Given the description of an element on the screen output the (x, y) to click on. 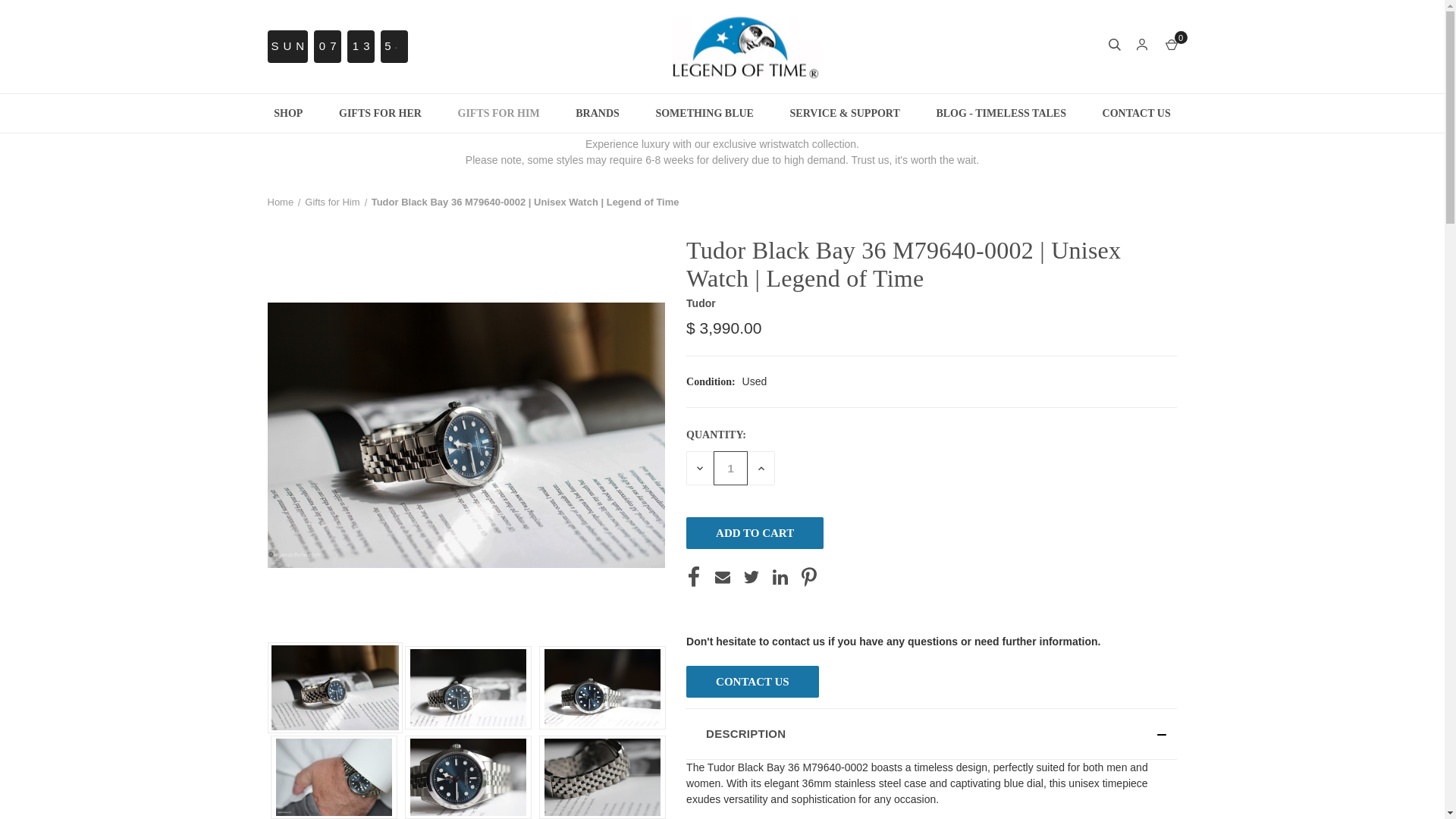
SHOP (288, 113)
Add to Cart (754, 532)
GIFTS FOR HER (379, 113)
BRANDS (597, 113)
Legend of Time, Inc. (745, 46)
Sign in (1166, 85)
Register (1169, 85)
1 (730, 468)
0 (1170, 46)
GIFTS FOR HIM (498, 113)
